Given the description of an element on the screen output the (x, y) to click on. 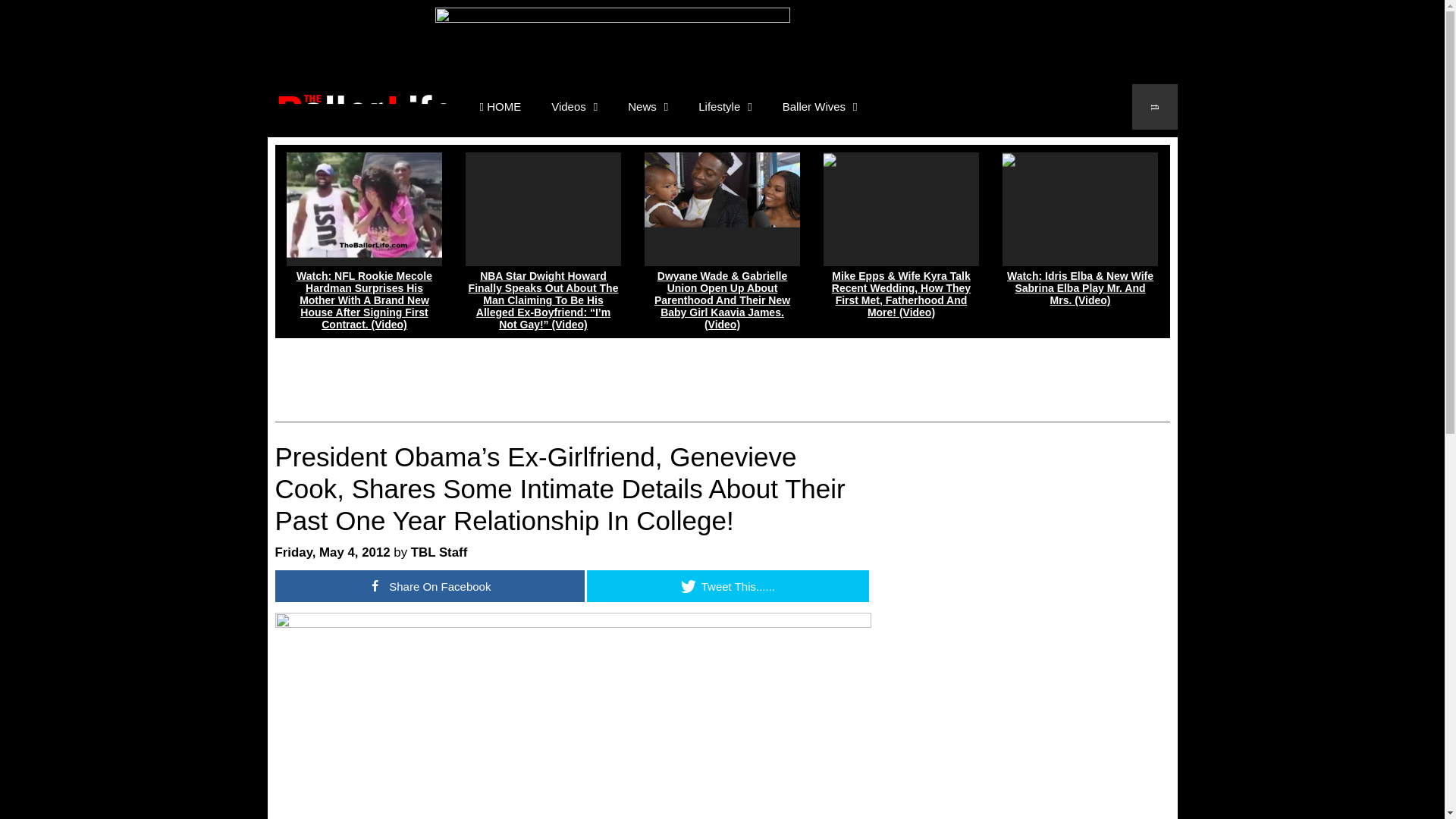
HOME (499, 106)
6:16 am (332, 552)
cook-genevieve-president-obama-ex-girlfriend (572, 715)
Baller Wives (819, 106)
View all posts by TBL Staff (438, 552)
Videos (573, 106)
Search (1154, 106)
Lifestyle (724, 106)
Search (1154, 106)
News (647, 106)
